Given the description of an element on the screen output the (x, y) to click on. 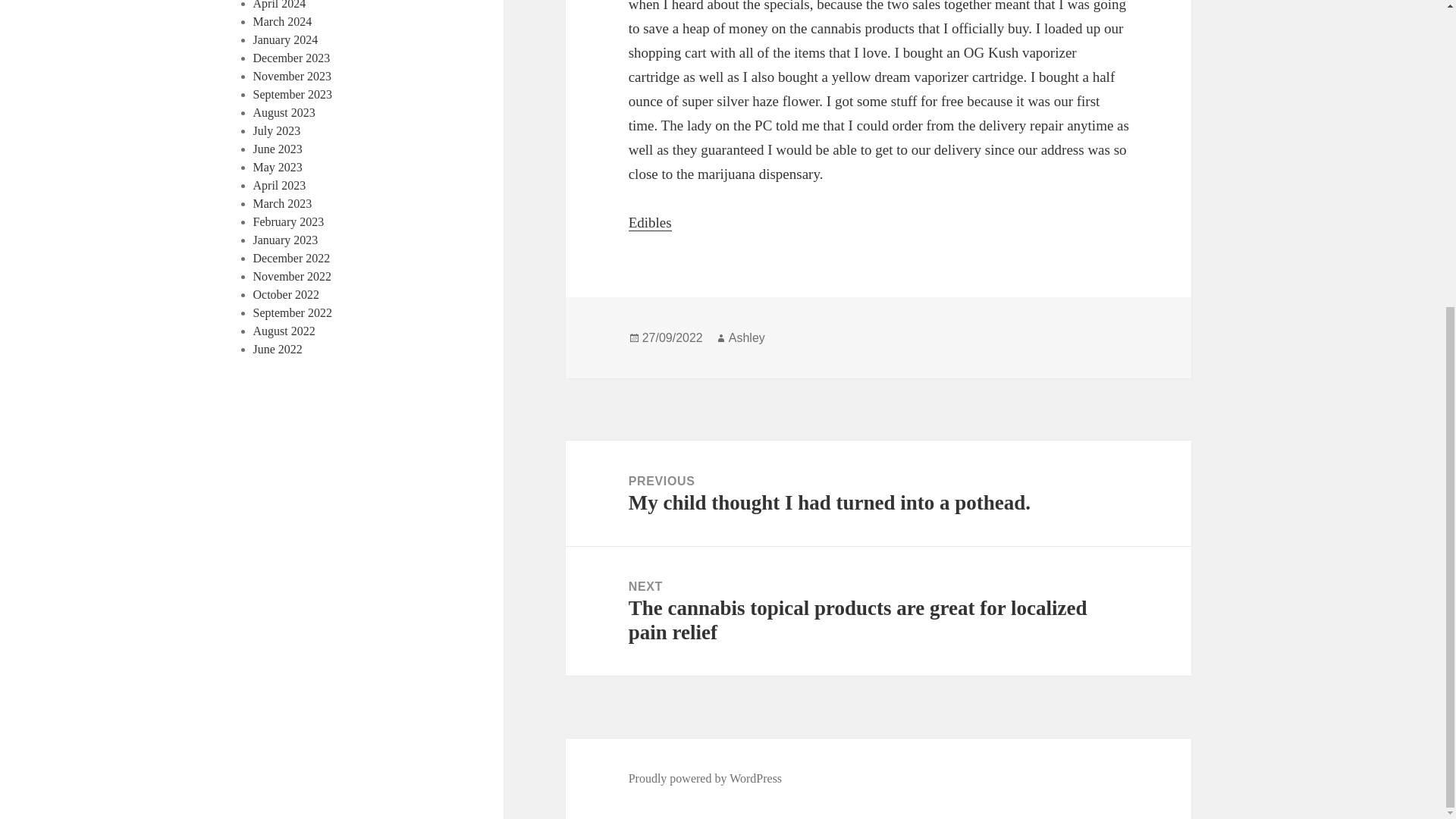
June 2022 (277, 349)
April 2024 (279, 4)
November 2022 (292, 276)
September 2022 (292, 312)
June 2023 (277, 148)
Ashley (747, 337)
October 2022 (286, 294)
December 2022 (291, 257)
March 2024 (283, 21)
August 2022 (284, 330)
March 2023 (283, 203)
December 2023 (291, 57)
May 2023 (277, 166)
January 2023 (285, 239)
